Given the description of an element on the screen output the (x, y) to click on. 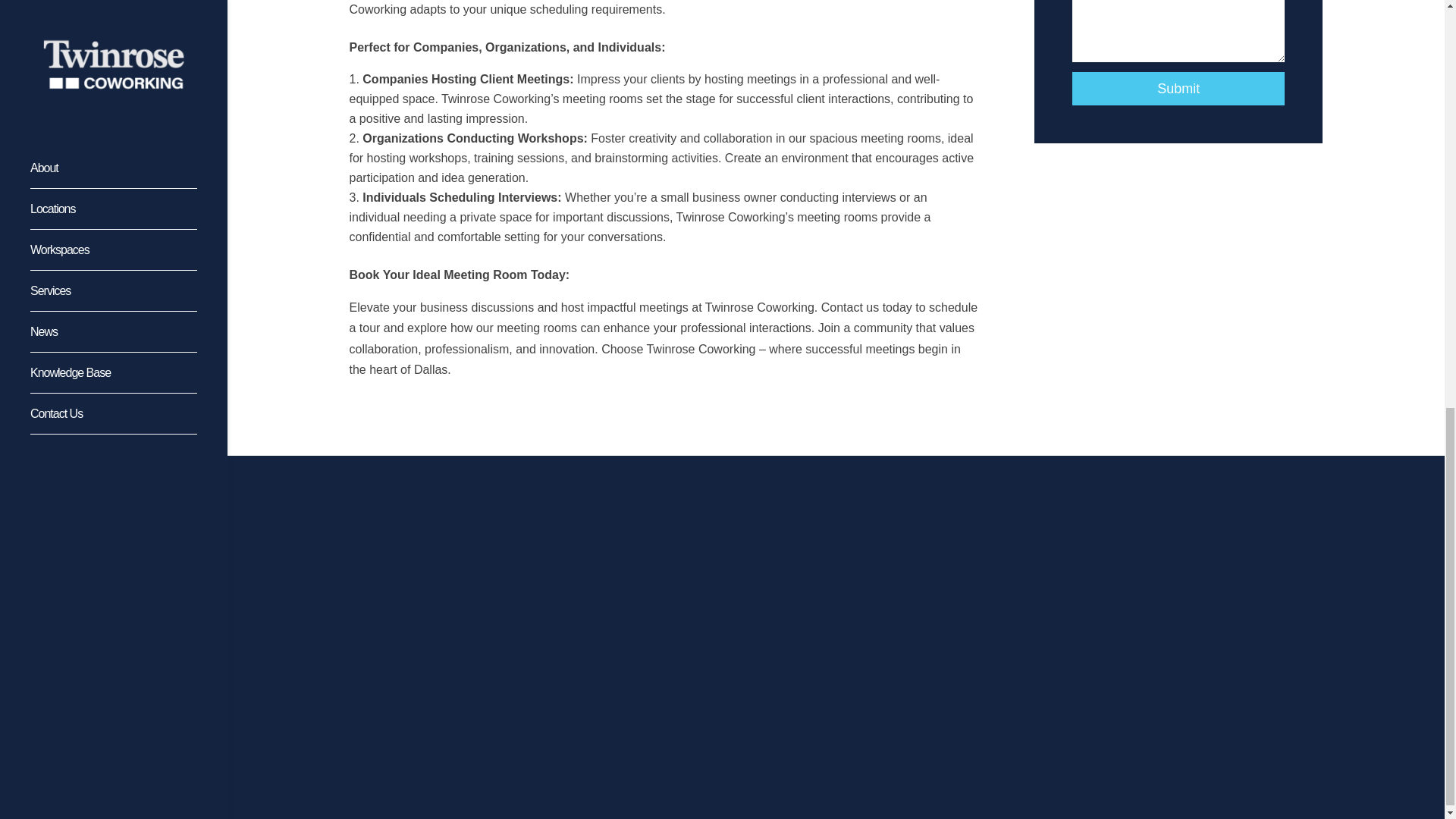
Submit (1178, 88)
